Given the description of an element on the screen output the (x, y) to click on. 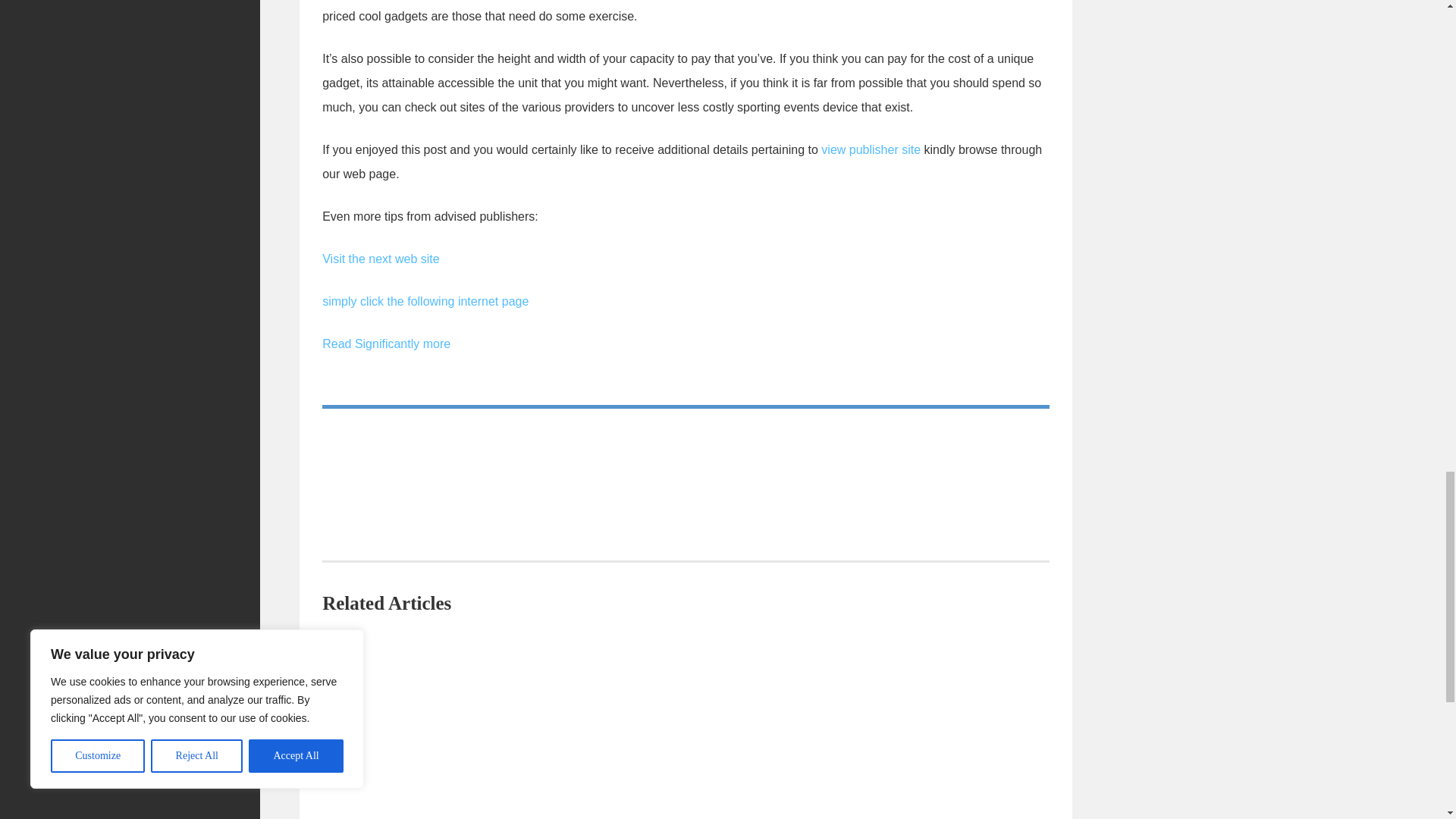
Visit the next web site (380, 258)
view publisher site (870, 149)
simply click the following internet page (424, 300)
Read Significantly more (385, 343)
